Given the description of an element on the screen output the (x, y) to click on. 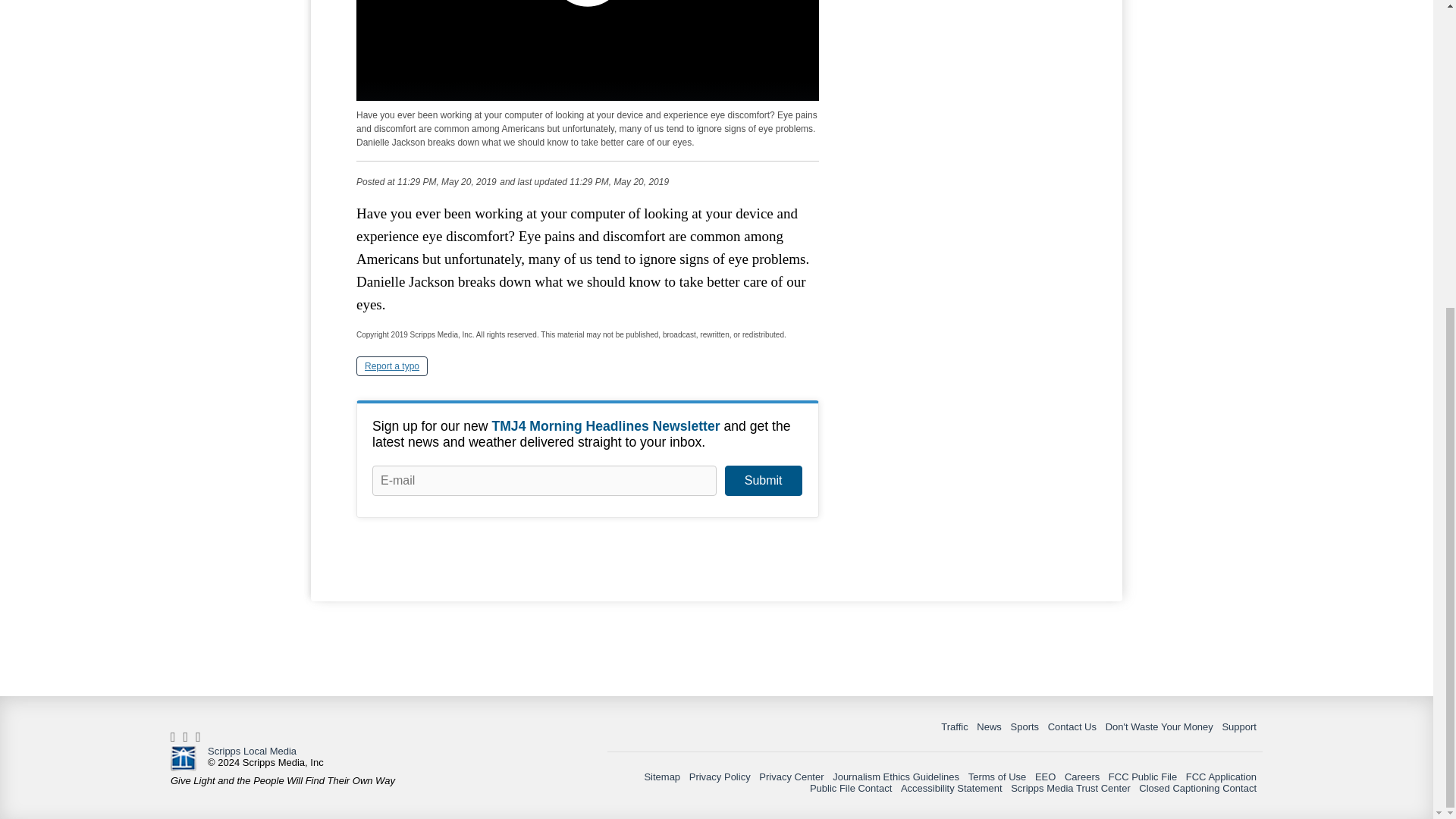
Submit (763, 481)
